Given the description of an element on the screen output the (x, y) to click on. 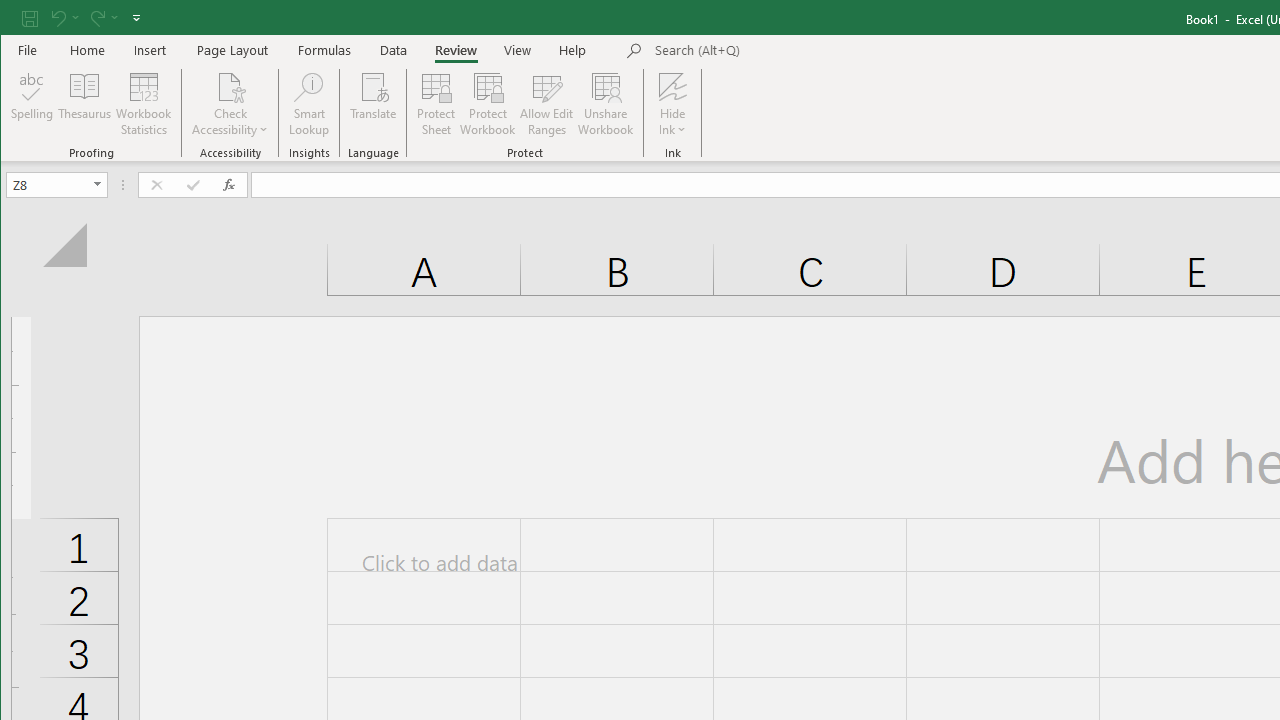
Smart Lookup (308, 104)
Check Accessibility (230, 104)
Allow Edit Ranges (547, 104)
